Given the description of an element on the screen output the (x, y) to click on. 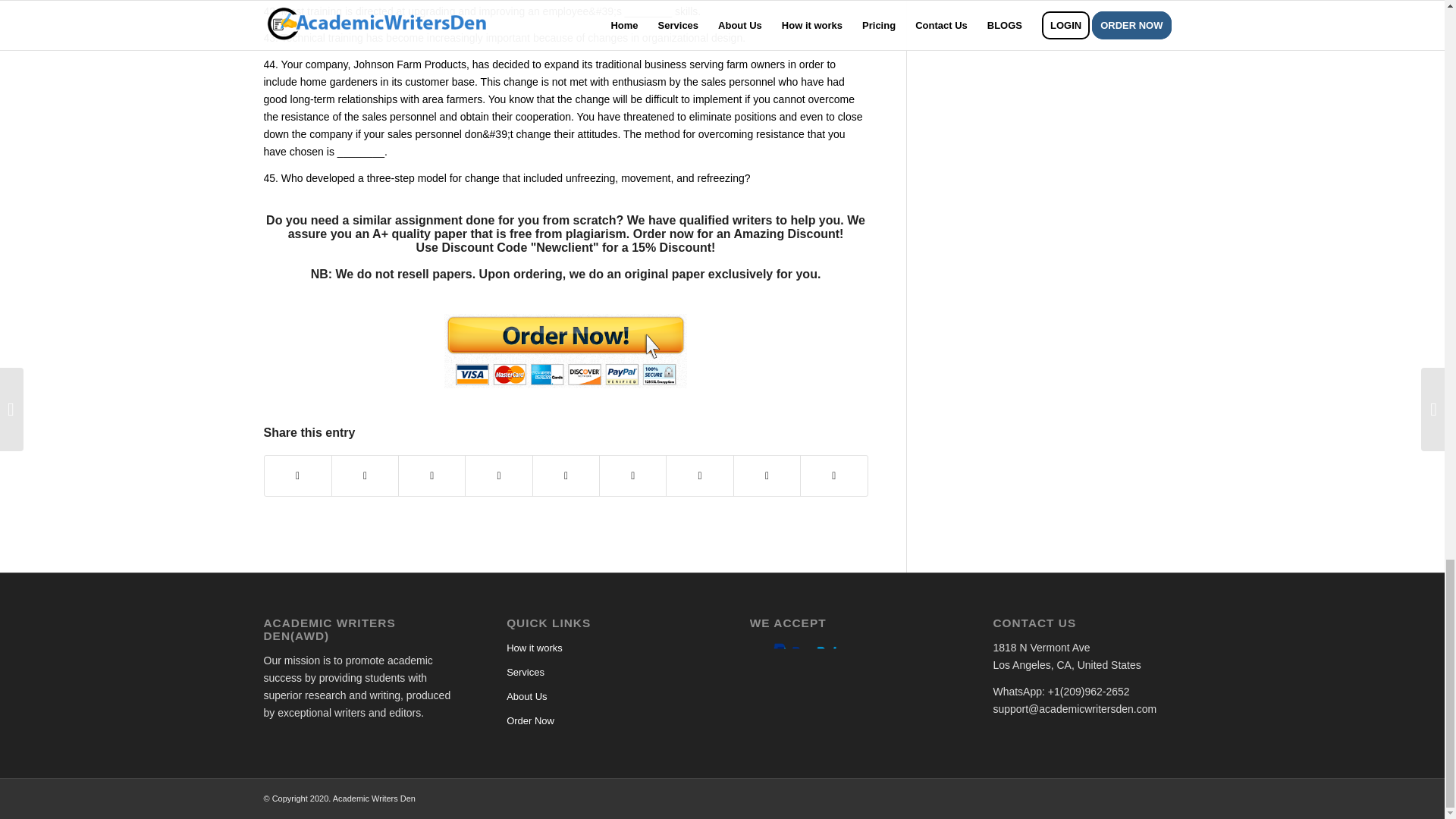
Services (600, 672)
Order Now (600, 721)
How it works (600, 648)
About Us (600, 696)
